Given the description of an element on the screen output the (x, y) to click on. 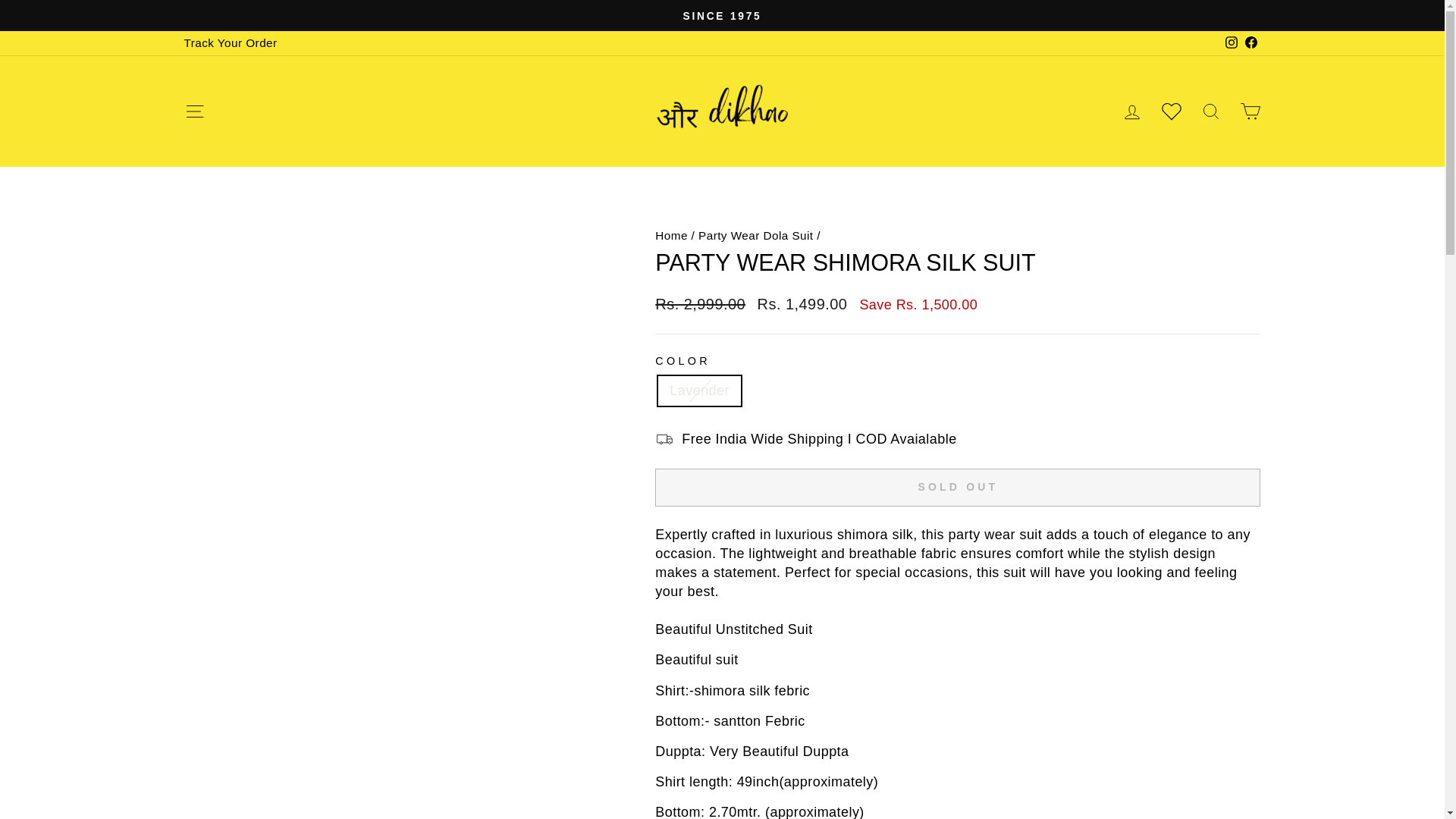
Back to the frontpage (671, 235)
